Given the description of an element on the screen output the (x, y) to click on. 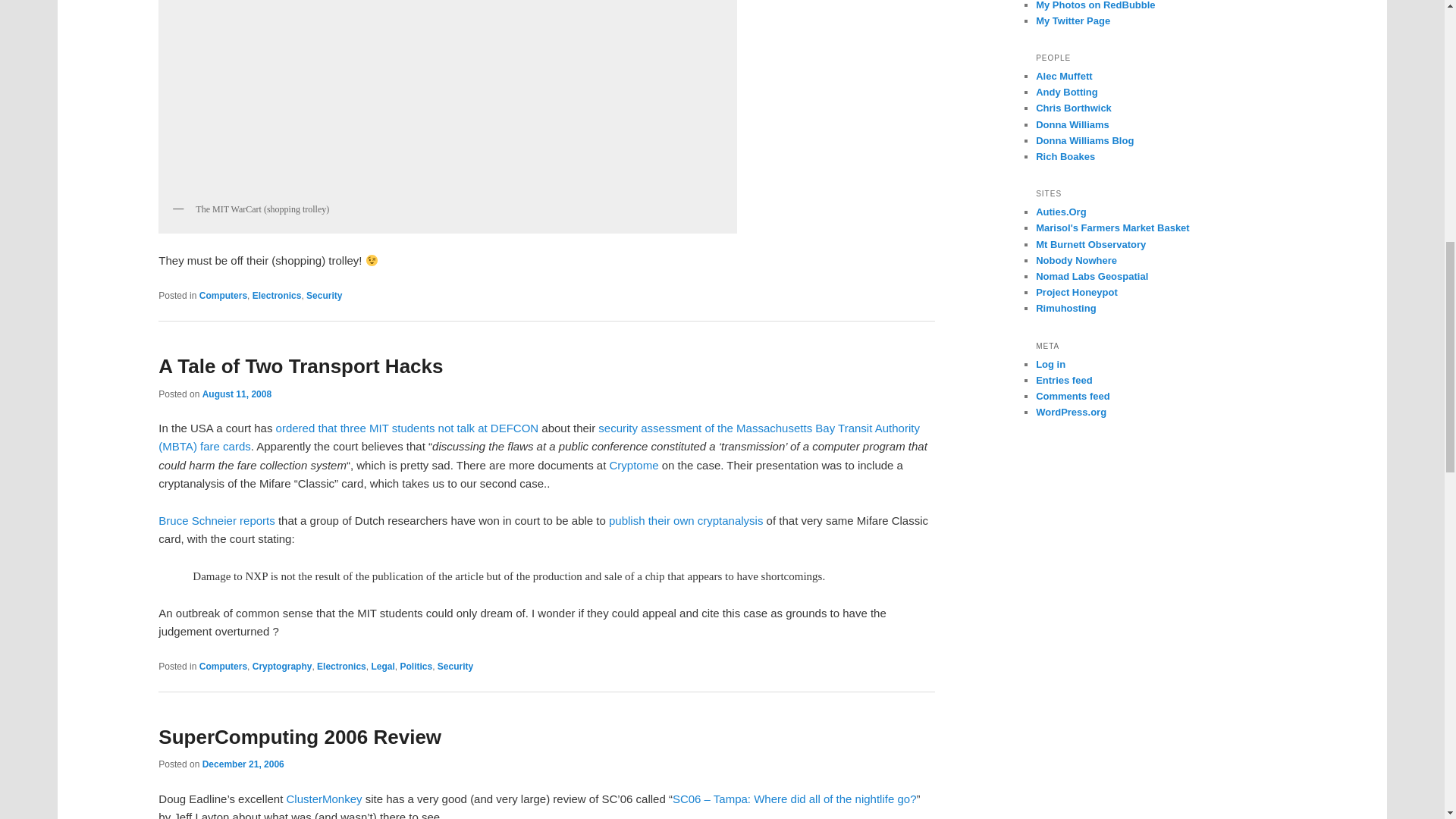
Legal (382, 665)
Politics (415, 665)
ordered that three MIT students not talk at DEFCON (407, 427)
Electronics (276, 295)
Bruce Schneier reports (216, 520)
You can buy prints of some of my best photos from RedBubble (1094, 4)
8:25 pm (242, 764)
Security (323, 295)
Cryptography (282, 665)
10:47 pm (236, 394)
